Given the description of an element on the screen output the (x, y) to click on. 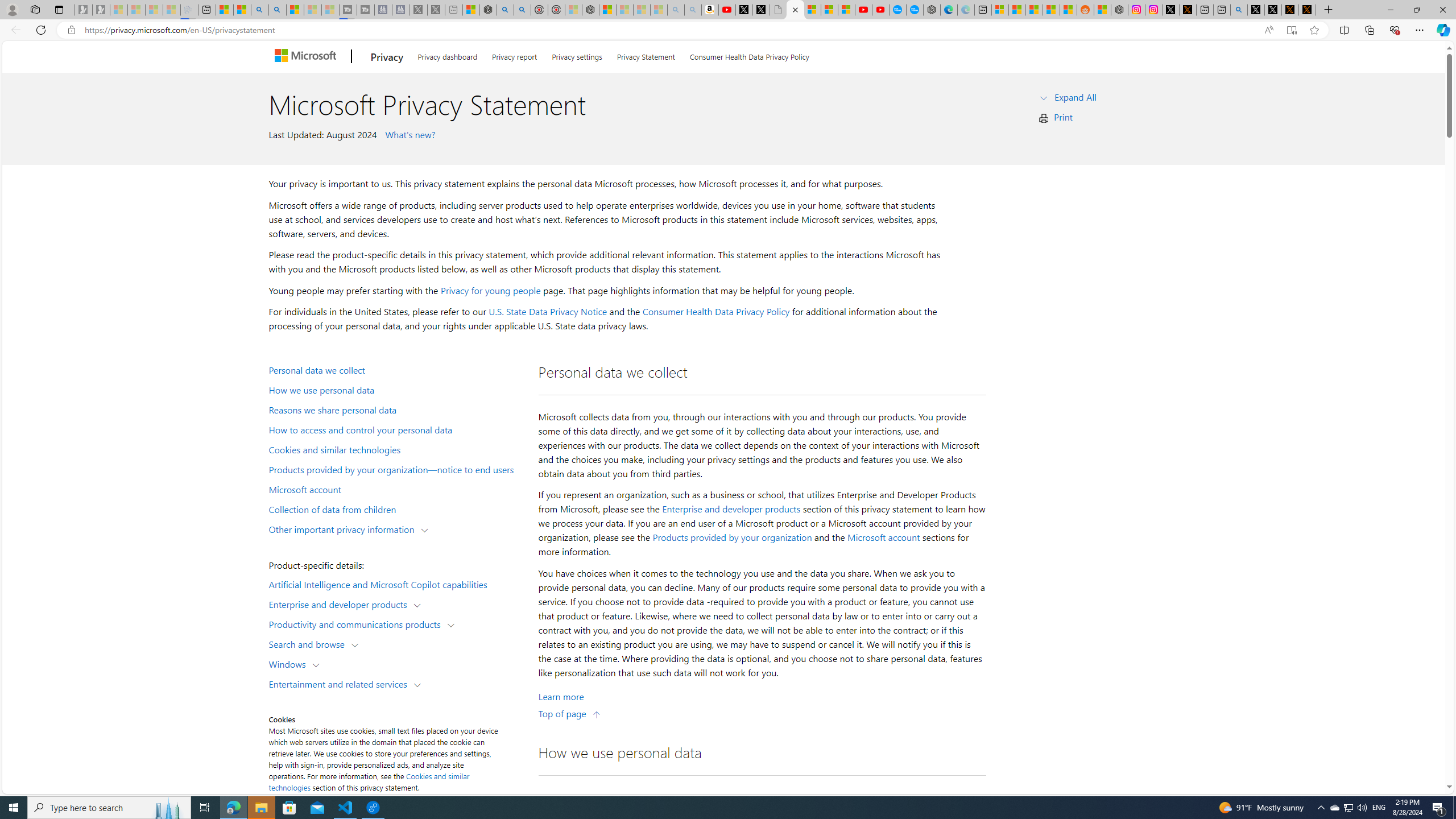
Print (1063, 116)
X Privacy Policy (1307, 9)
Products provided by your organization (732, 537)
Microsoft (306, 56)
Consumer Health Data Privacy Policy (716, 311)
